Given the description of an element on the screen output the (x, y) to click on. 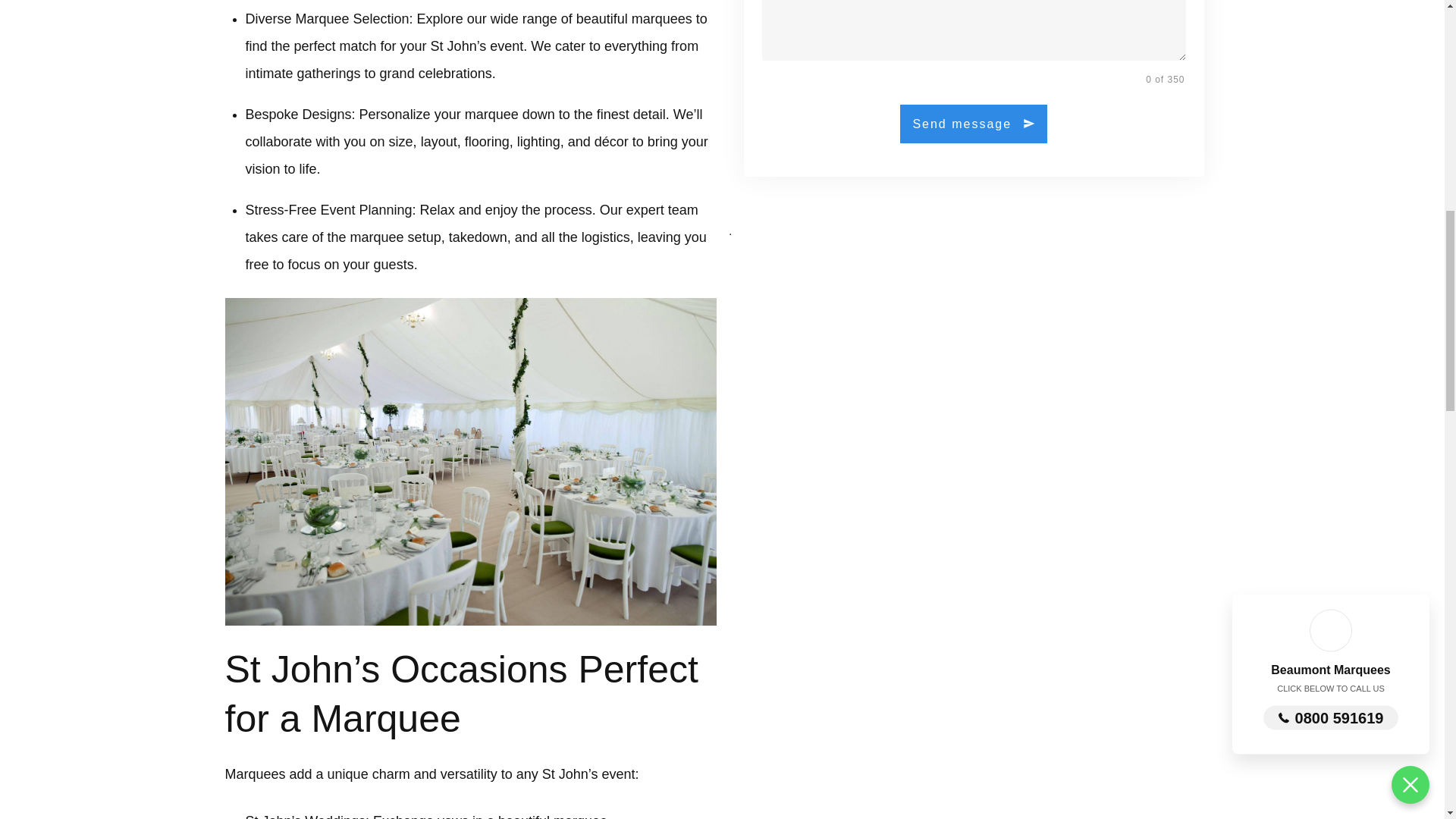
Send message (972, 123)
